Given the description of an element on the screen output the (x, y) to click on. 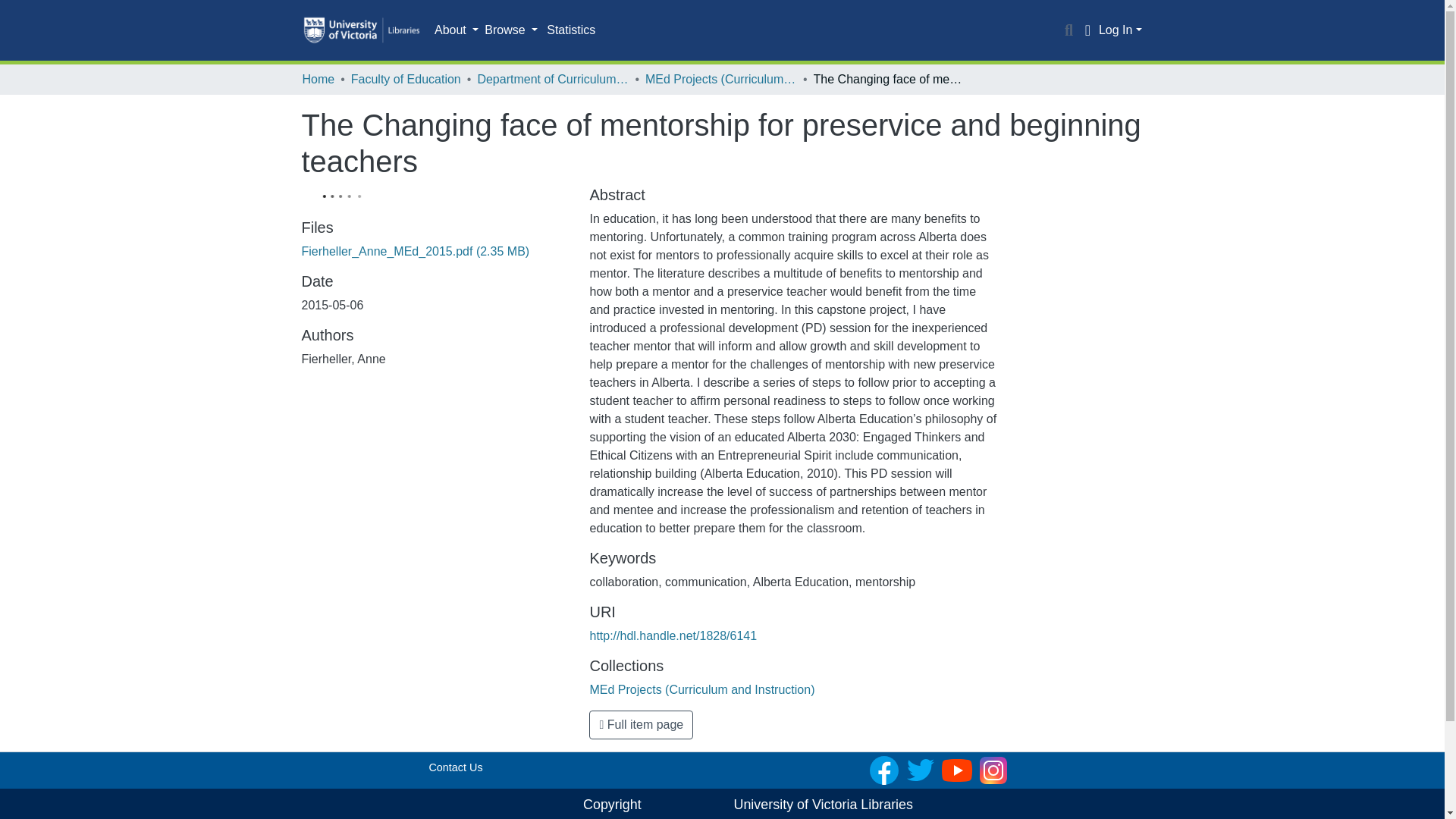
About (455, 30)
Log In (1119, 29)
Faculty of Education (405, 79)
Language switch (1087, 30)
Browse (510, 30)
Statistics (570, 30)
Search (1068, 30)
Home (317, 79)
Statistics (570, 30)
Full item page (641, 724)
